Given the description of an element on the screen output the (x, y) to click on. 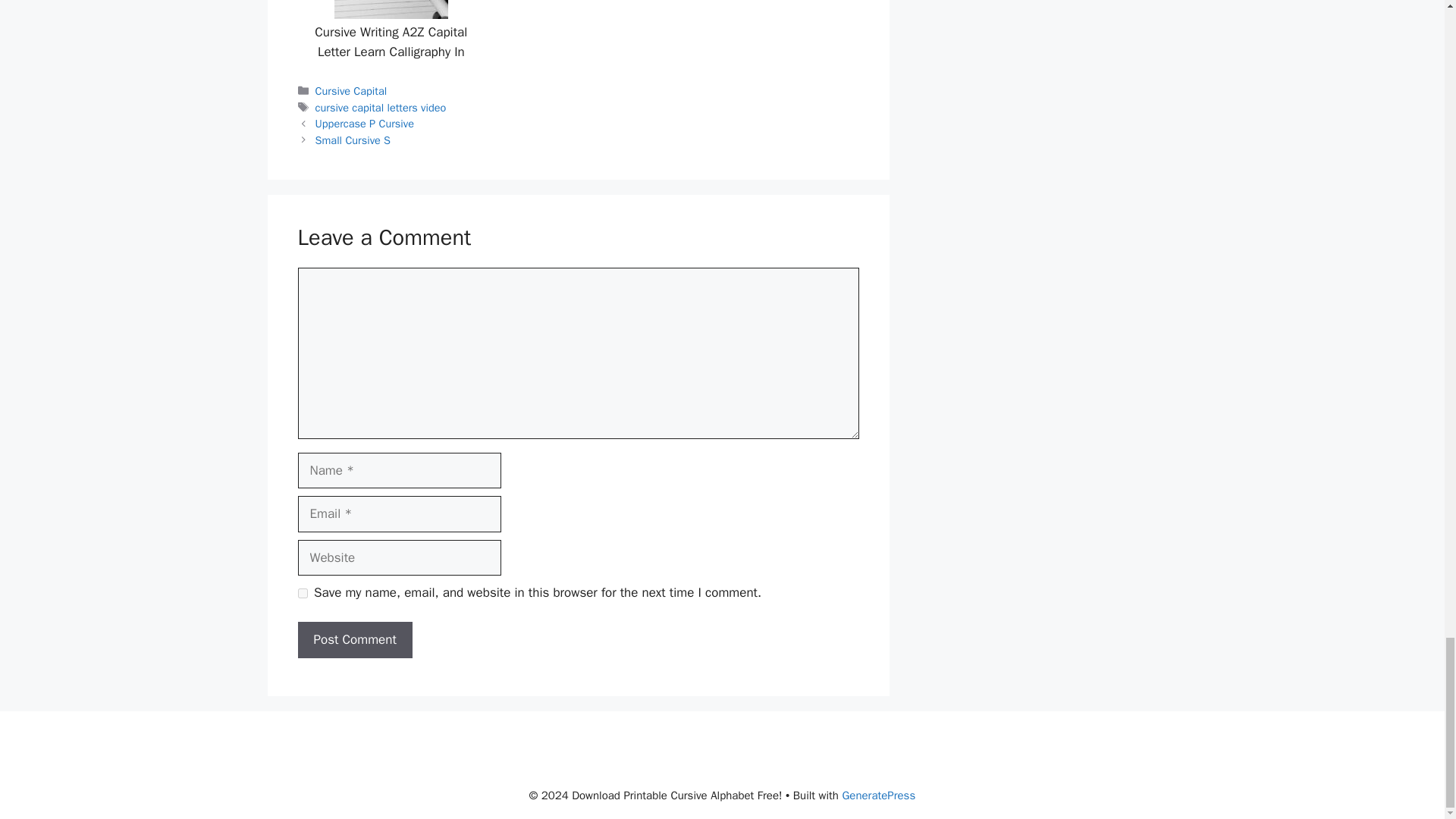
Small Cursive S (352, 140)
Cursive Capital (351, 90)
cursive capital letters video (380, 107)
GeneratePress (878, 795)
Post Comment (354, 639)
Uppercase P Cursive (364, 123)
Post Comment (354, 639)
yes (302, 593)
